Given the description of an element on the screen output the (x, y) to click on. 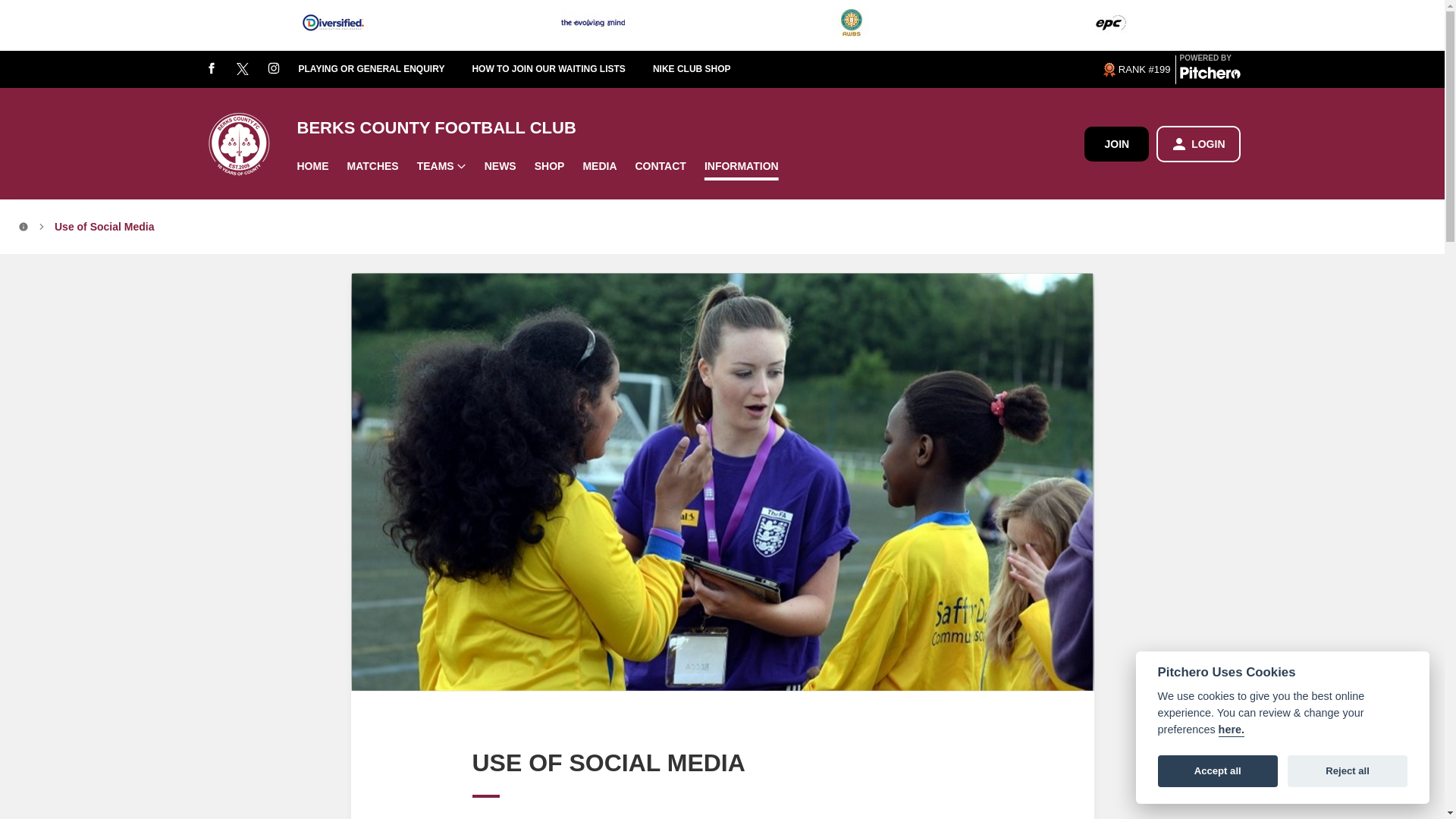
Club Sponsor - Diversified (333, 25)
MEDIA (599, 165)
SHOP (549, 165)
Pitchero Rankings (1135, 69)
instagram (273, 68)
INFORMATION (741, 165)
JOIN (1116, 143)
facebook (211, 68)
First Team Sponsor - EPC (1110, 25)
BERKS COUNTY FOOTBALL CLUB (690, 127)
HOW TO JOIN OUR WAITING LISTS (561, 69)
LOGIN (1198, 144)
HOME (312, 165)
PLAYING OR GENERAL ENQUIRY (384, 69)
CONTACT (660, 165)
